Given the description of an element on the screen output the (x, y) to click on. 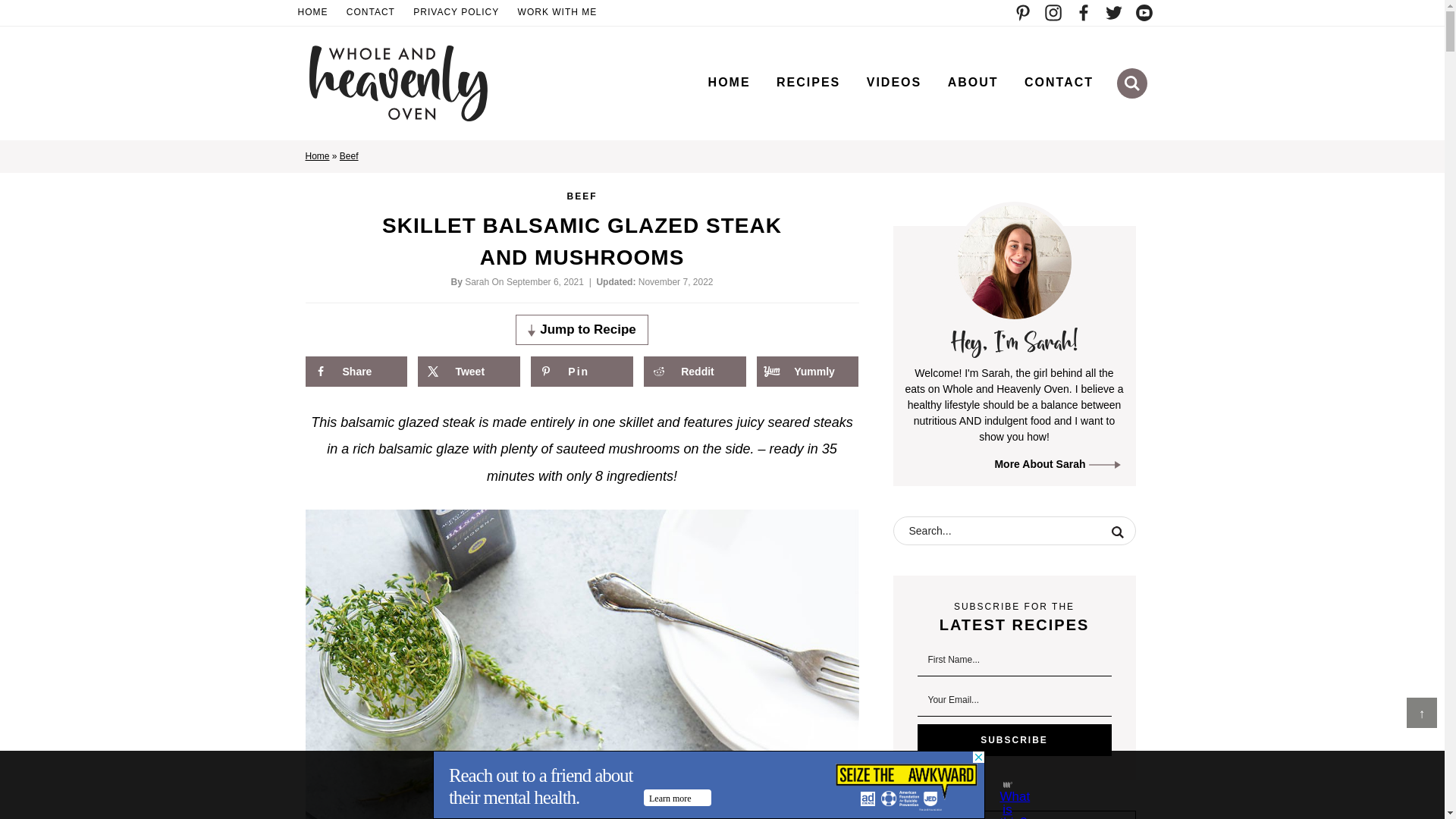
Share on Yummly (808, 371)
WHOLE AND HEAVENLY OVEN (397, 83)
RECIPES (807, 82)
HOME (311, 13)
Home (316, 155)
CONTACT (1058, 82)
Save to Pinterest (581, 371)
ABOUT (973, 82)
Share on X (468, 371)
Share on Facebook (355, 371)
WORK WITH ME (558, 13)
PRIVACY POLICY (456, 13)
